Given the description of an element on the screen output the (x, y) to click on. 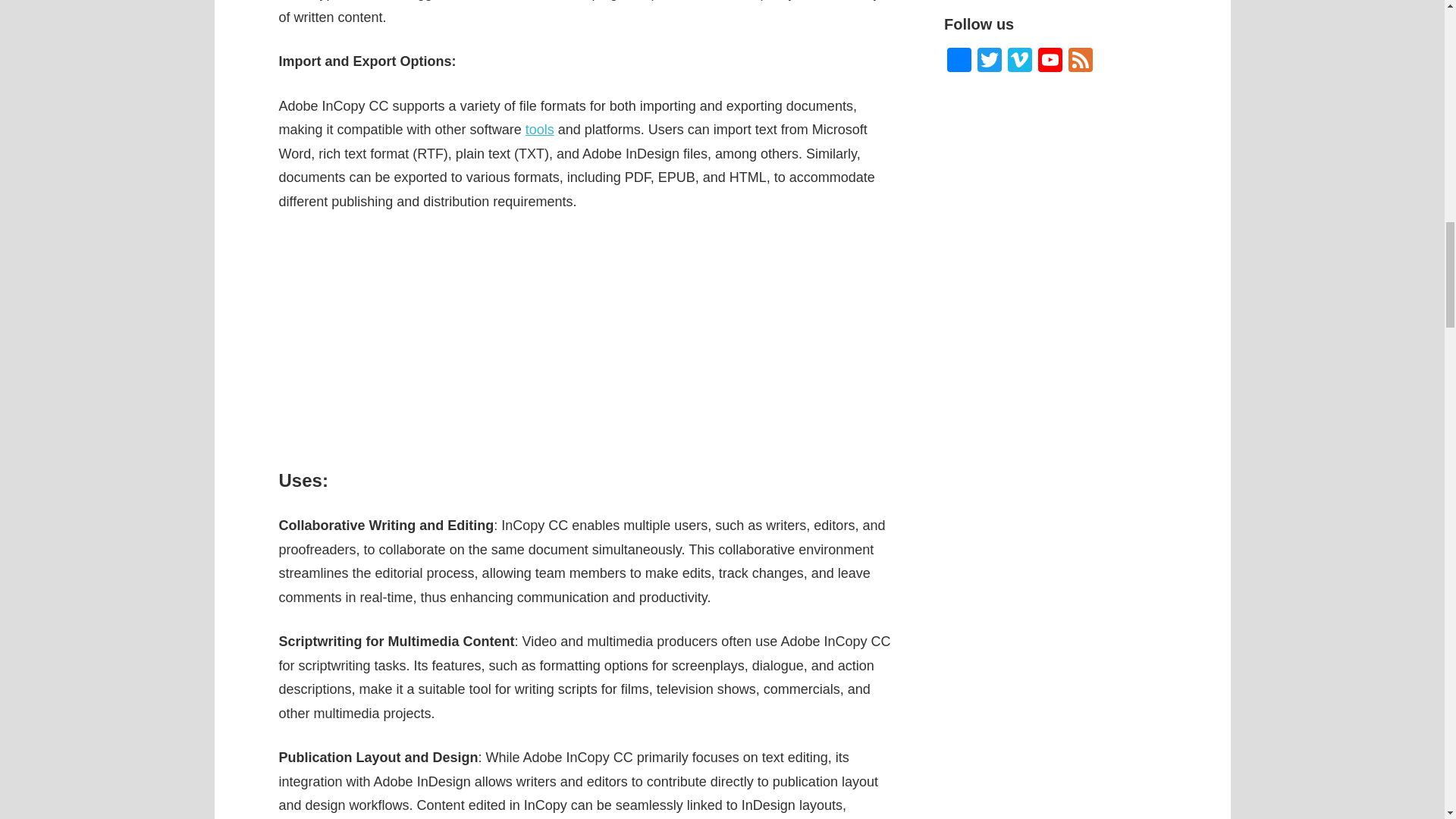
Adobe InCopy CC  (584, 340)
tools (539, 129)
